Given the description of an element on the screen output the (x, y) to click on. 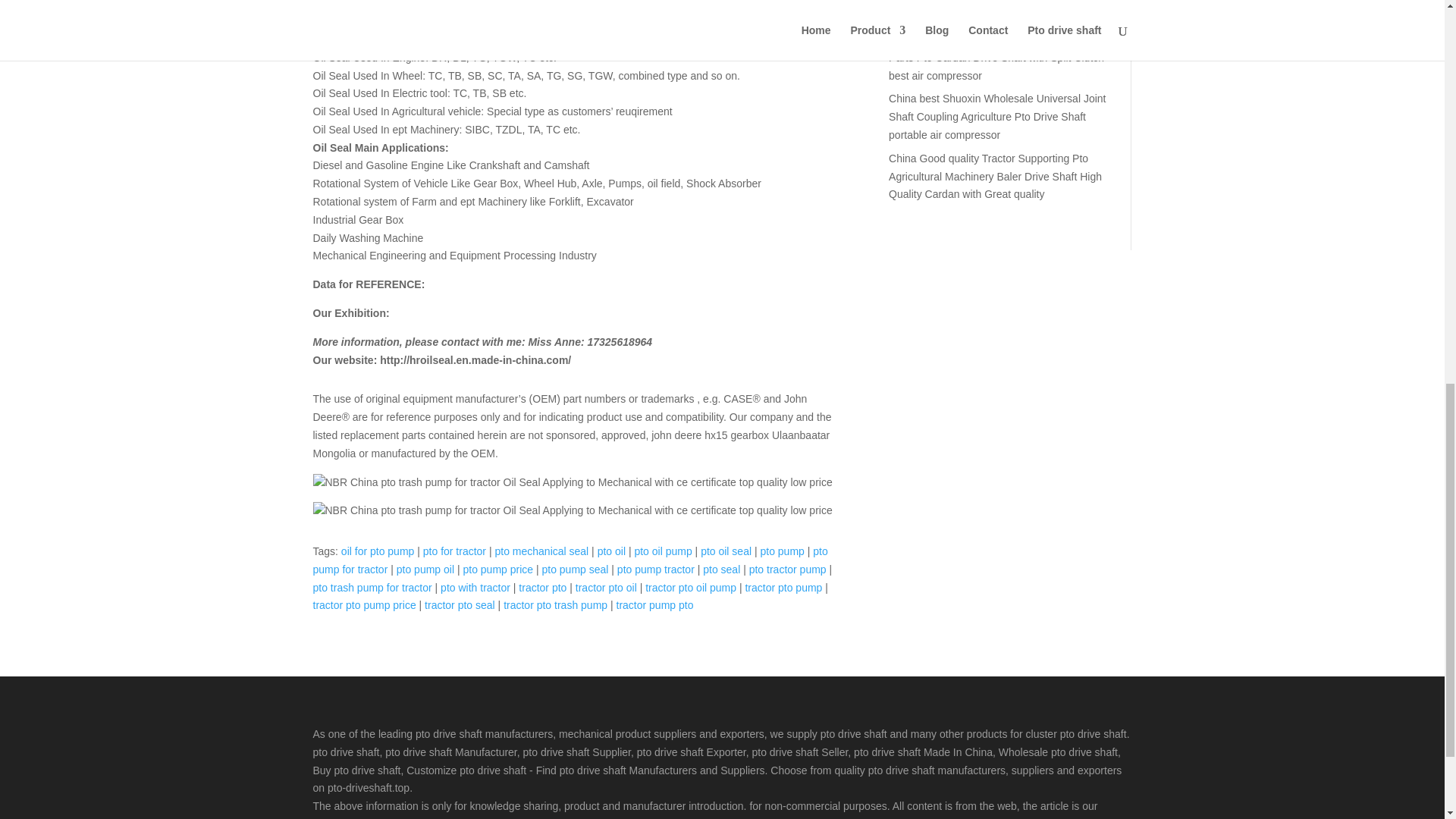
pto tractor pump (788, 569)
pto mechanical seal (541, 551)
tractor pto (542, 587)
pto pump tractor (655, 569)
tractor pto oil (606, 587)
pto trash pump for tractor (371, 587)
pto pump for tractor (570, 560)
pto pump seal (574, 569)
pto with tractor (476, 587)
pto seal (721, 569)
pto oil (611, 551)
pto pump price (497, 569)
pto pump (781, 551)
pto pump oil (425, 569)
pto oil seal (725, 551)
